Given the description of an element on the screen output the (x, y) to click on. 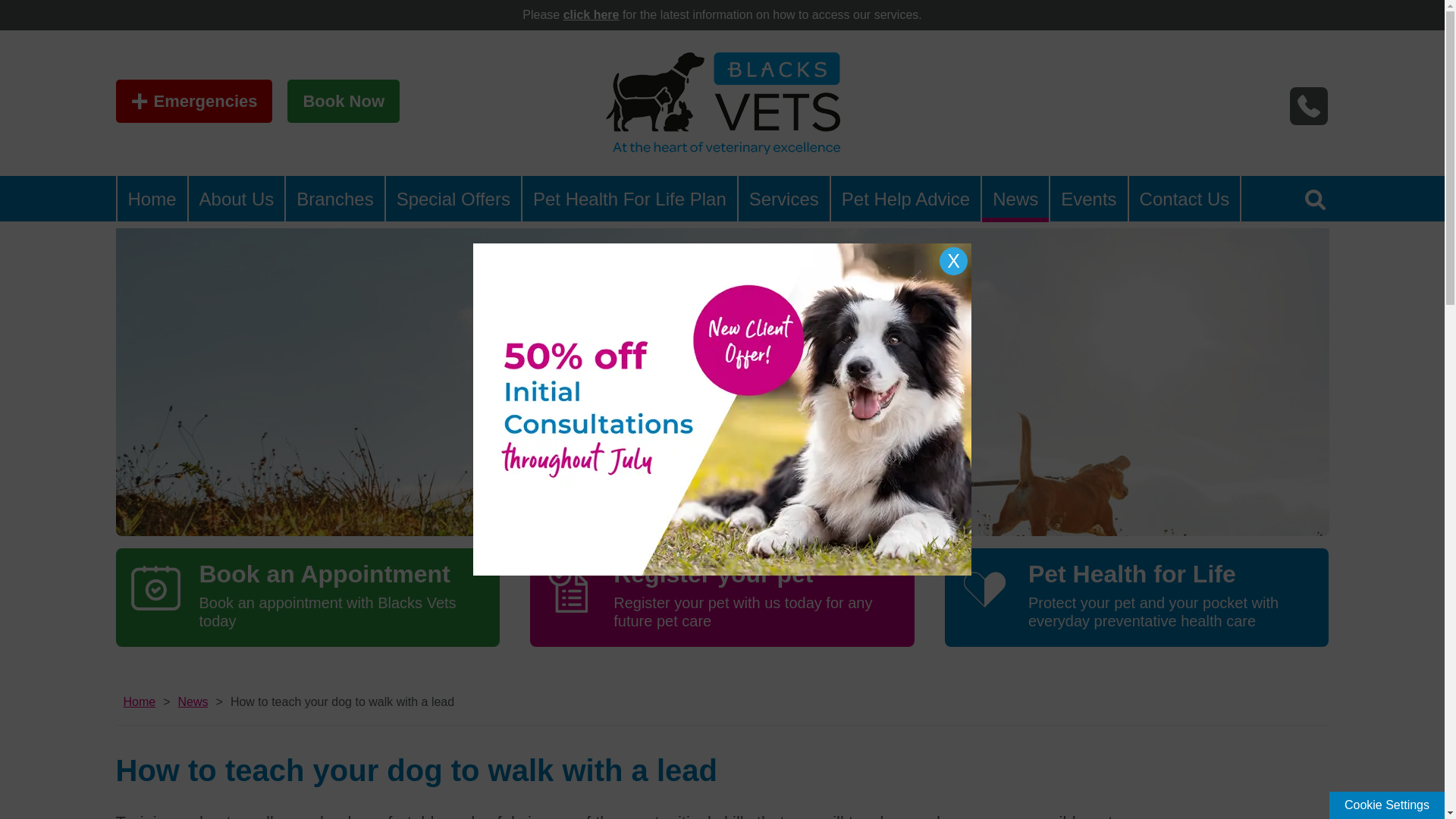
Branches (334, 199)
Services (783, 199)
Emergencies (193, 100)
Special Offers (453, 199)
Home (151, 199)
About Us (237, 199)
click here (591, 14)
Pet Health For Life Plan (629, 199)
Book Now (342, 100)
